Given the description of an element on the screen output the (x, y) to click on. 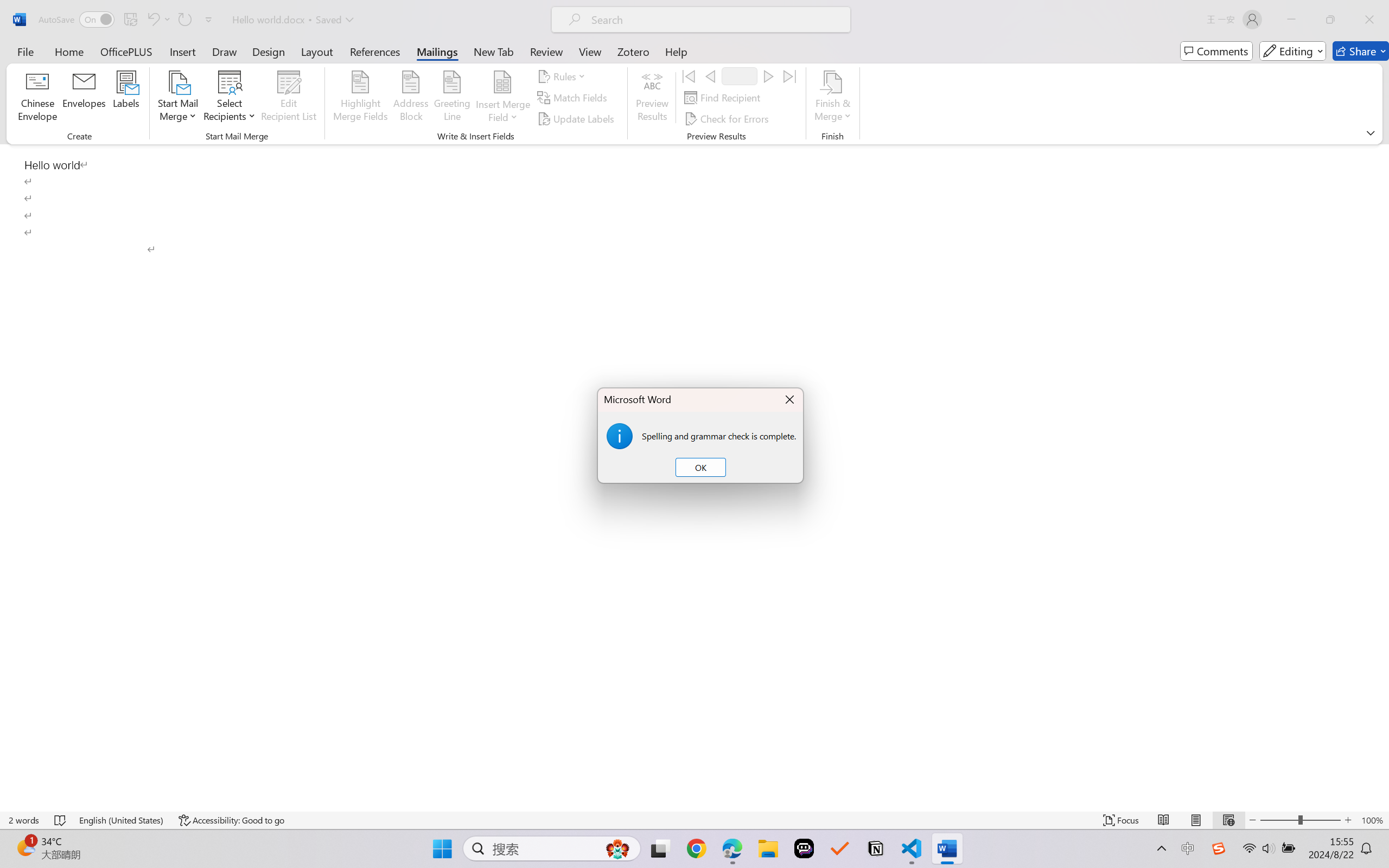
Minimize (1291, 19)
First (688, 75)
Help (675, 51)
Check for Errors... (728, 118)
Class: NetUIScrollBar (1382, 477)
AutomationID: BadgeAnchorLargeTicker (24, 847)
Next (768, 75)
Review (546, 51)
Insert Merge Field (502, 97)
Editing (1292, 50)
Class: Image (1218, 847)
